Given the description of an element on the screen output the (x, y) to click on. 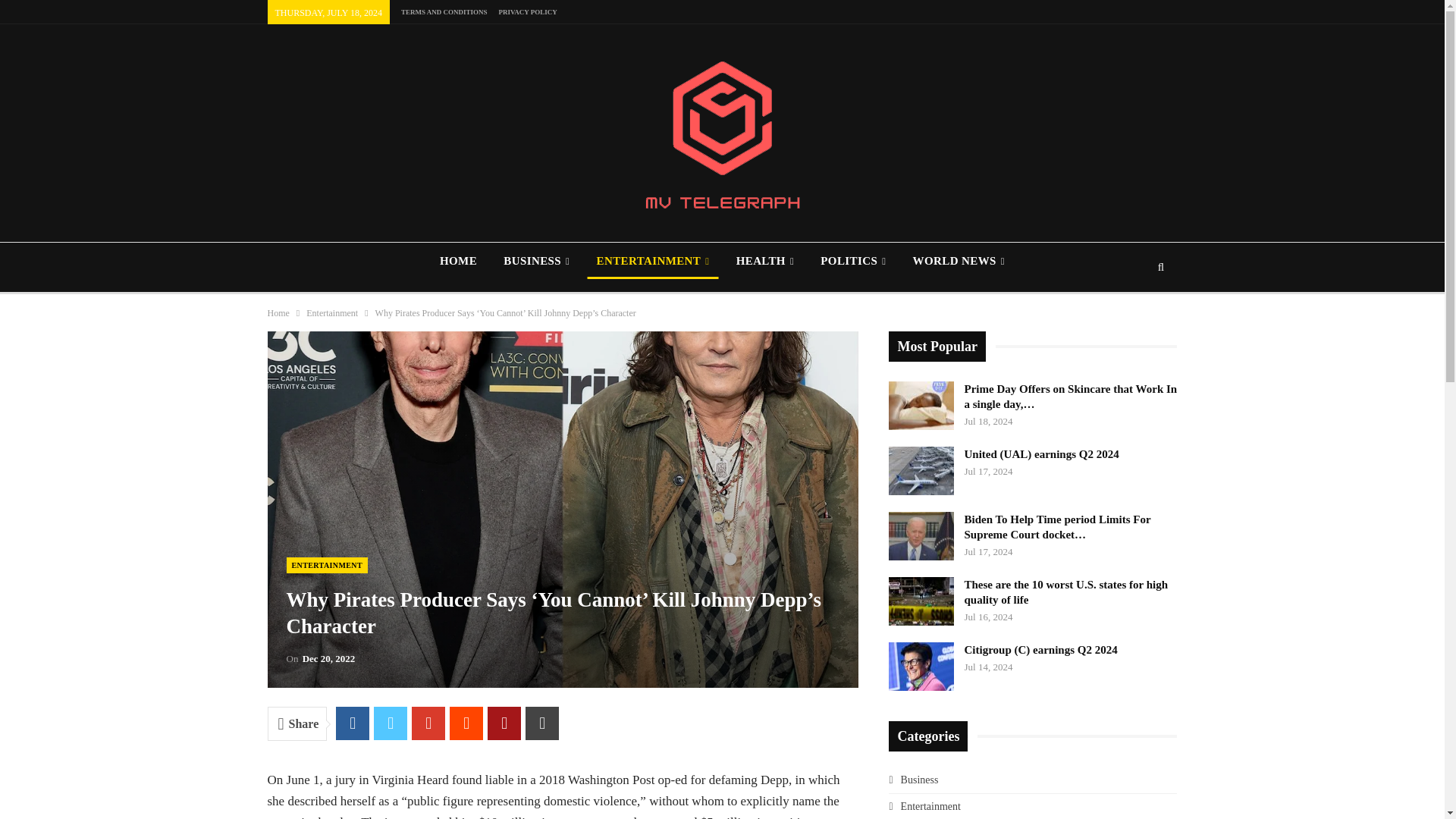
HEALTH (764, 260)
TERMS AND CONDITIONS (444, 11)
ENTERTAINMENT (651, 260)
BUSINESS (536, 260)
HOME (458, 260)
PRIVACY POLICY (526, 11)
